Given the description of an element on the screen output the (x, y) to click on. 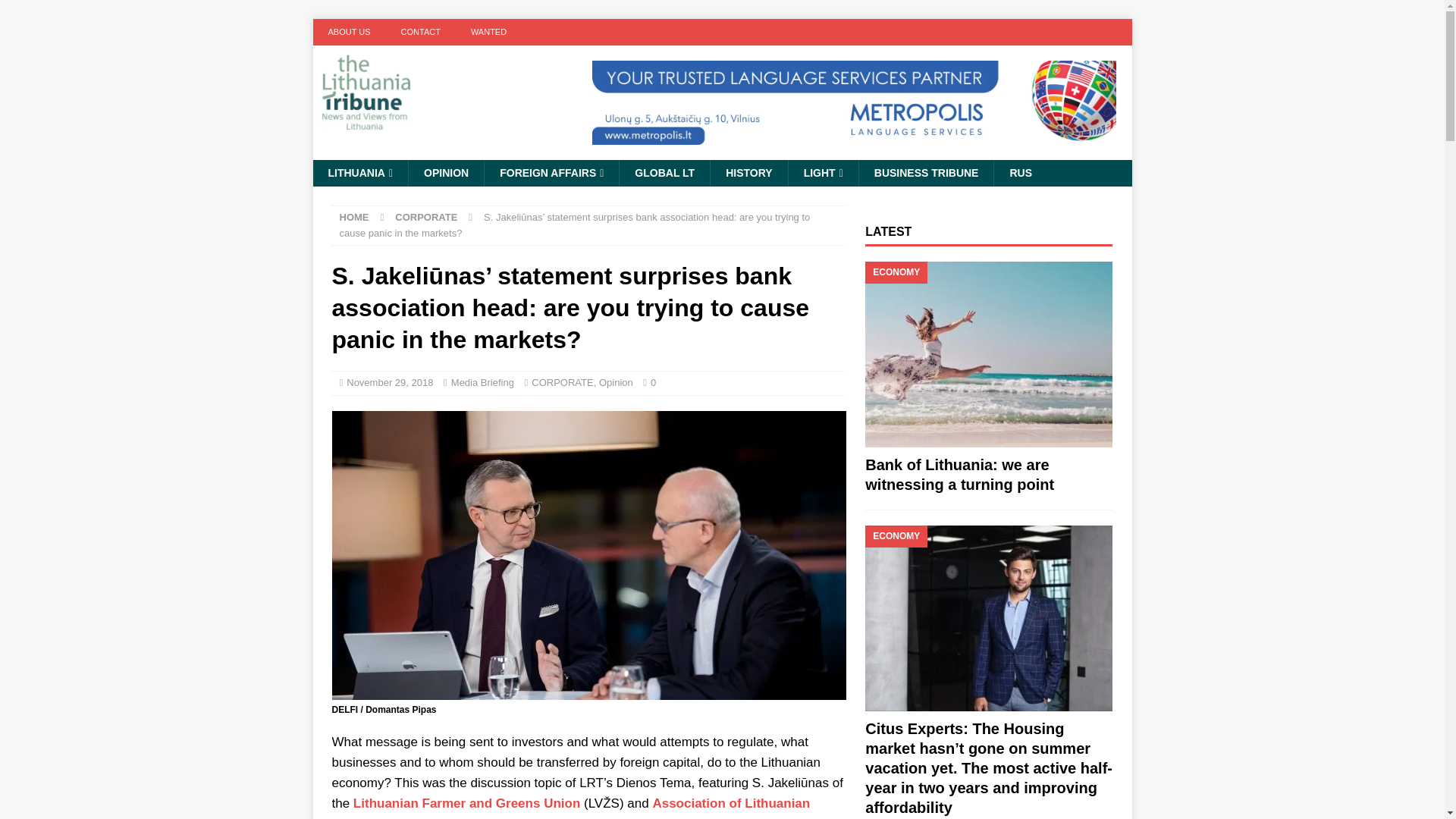
ABOUT US (349, 31)
CONTACT (420, 31)
LITHUANIA (360, 172)
WANTED (488, 31)
